Given the description of an element on the screen output the (x, y) to click on. 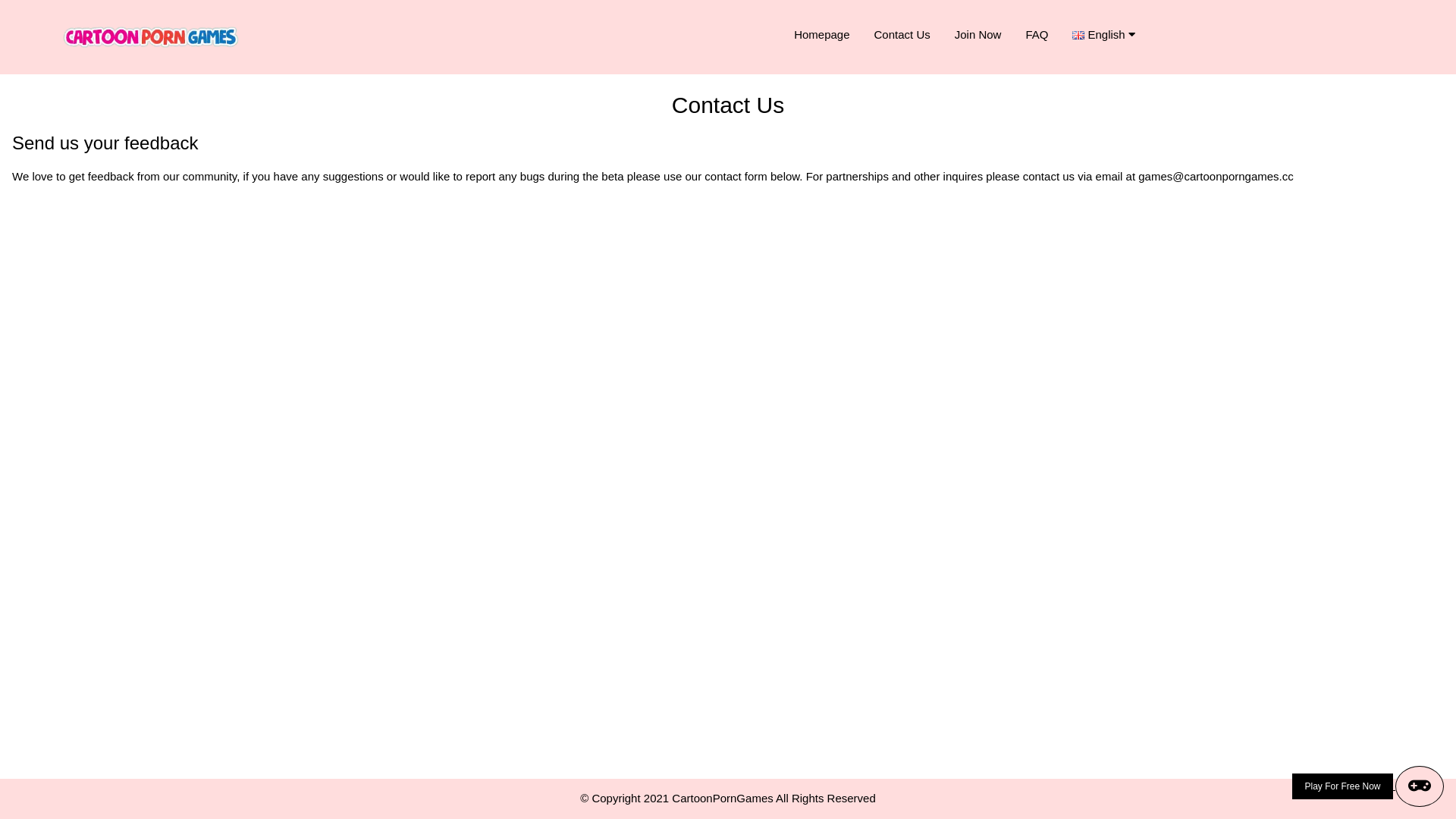
English Element type: text (1109, 35)
Contact Us Element type: text (902, 35)
Play For Free Now Element type: text (1367, 785)
FAQ Element type: text (1036, 35)
Join Now Element type: text (977, 35)
Homepage Element type: text (821, 35)
